Given the description of an element on the screen output the (x, y) to click on. 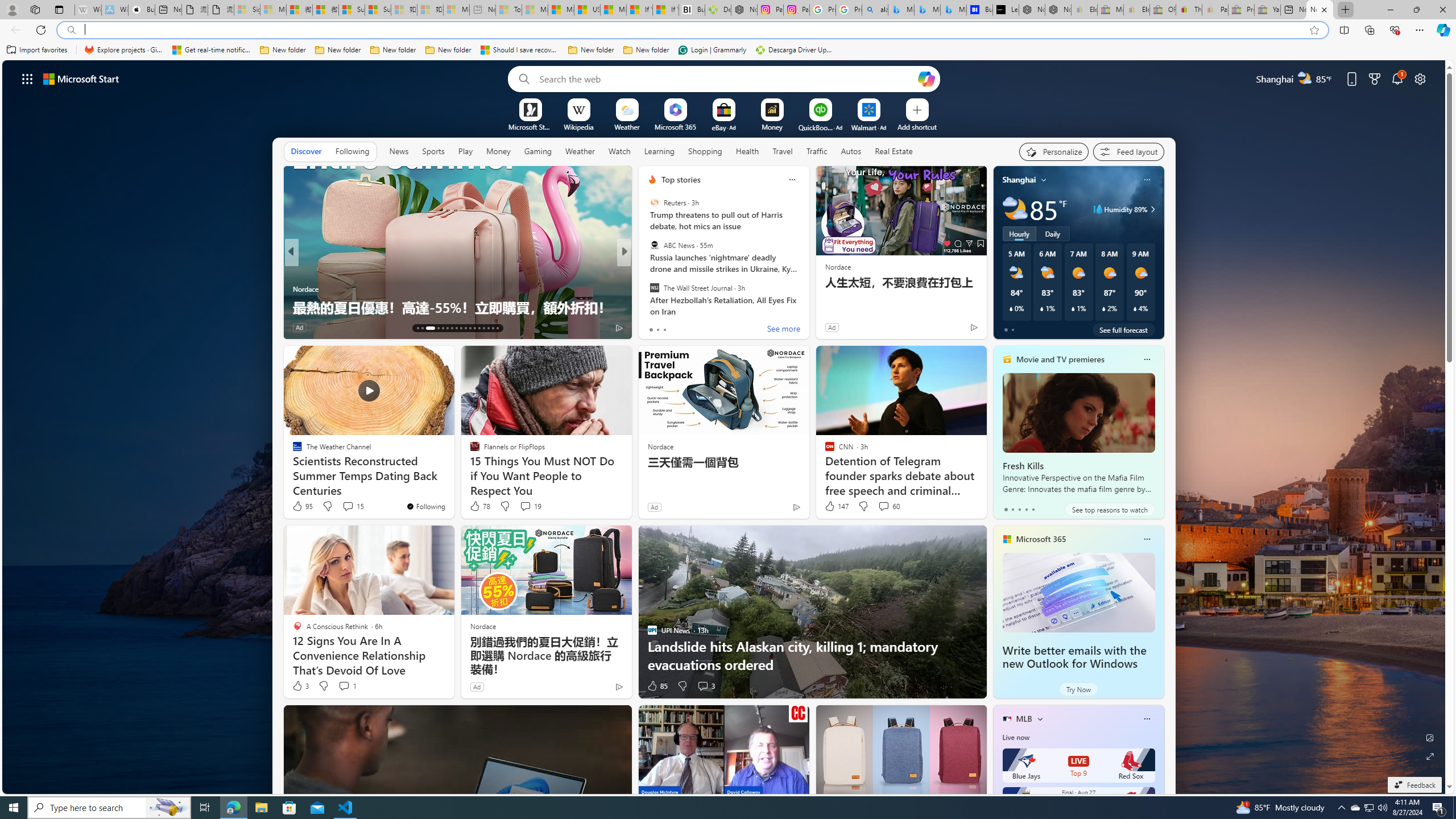
Reader's Digest (647, 270)
View comments 3 Comment (703, 685)
Weather (579, 151)
View comments 2 Comment (702, 327)
245 Like (654, 327)
3 Like (299, 685)
Payments Terms of Use | eBay.com - Sleeping (1214, 9)
AutomationID: tab-24 (474, 328)
Learning (659, 151)
